Given the description of an element on the screen output the (x, y) to click on. 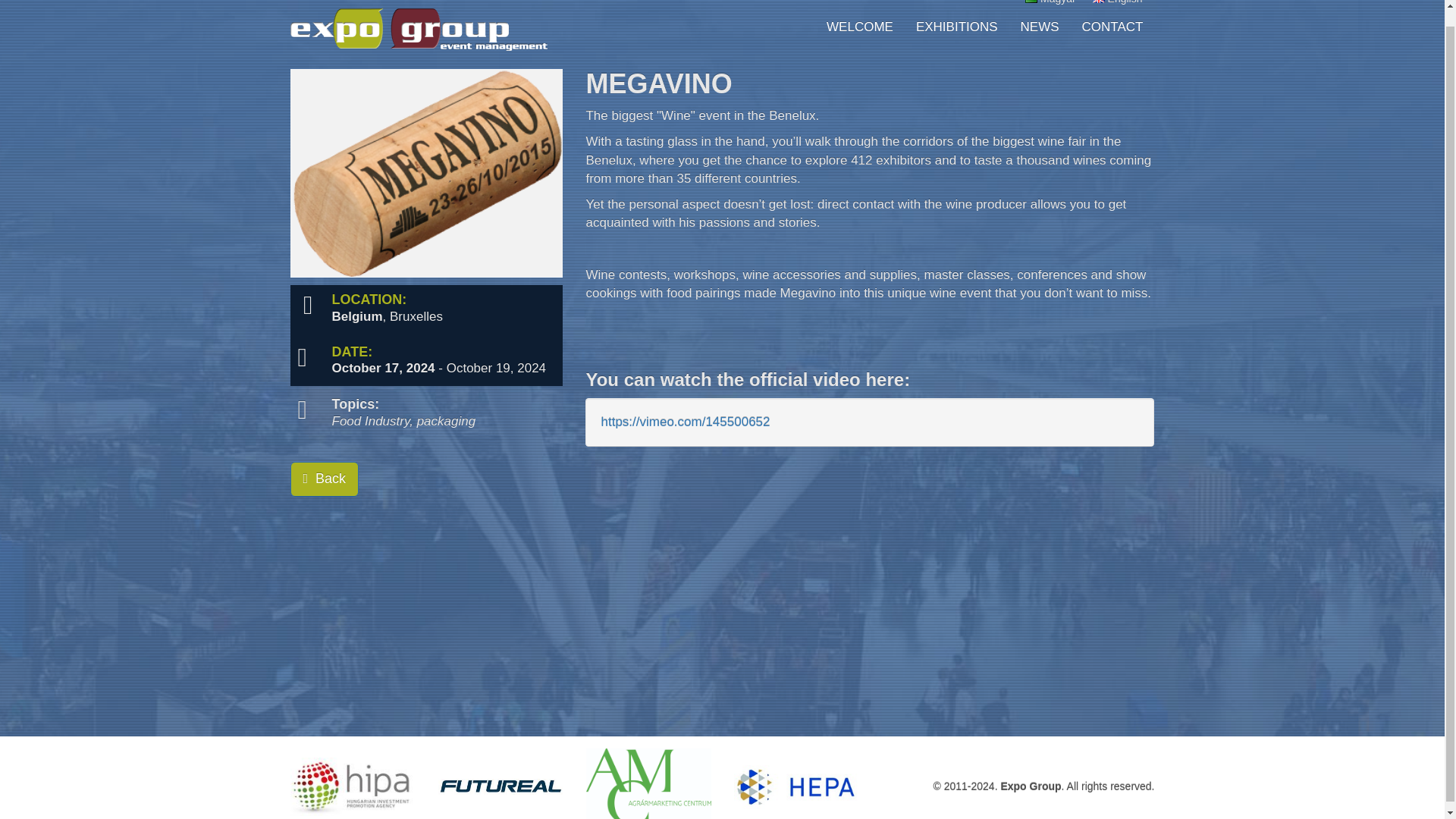
CONTACT (1112, 26)
 Back (323, 478)
EXHIBITIONS (956, 26)
Magyar (1050, 4)
WELCOME (859, 26)
NEWS (1039, 26)
English (1117, 4)
